Given the description of an element on the screen output the (x, y) to click on. 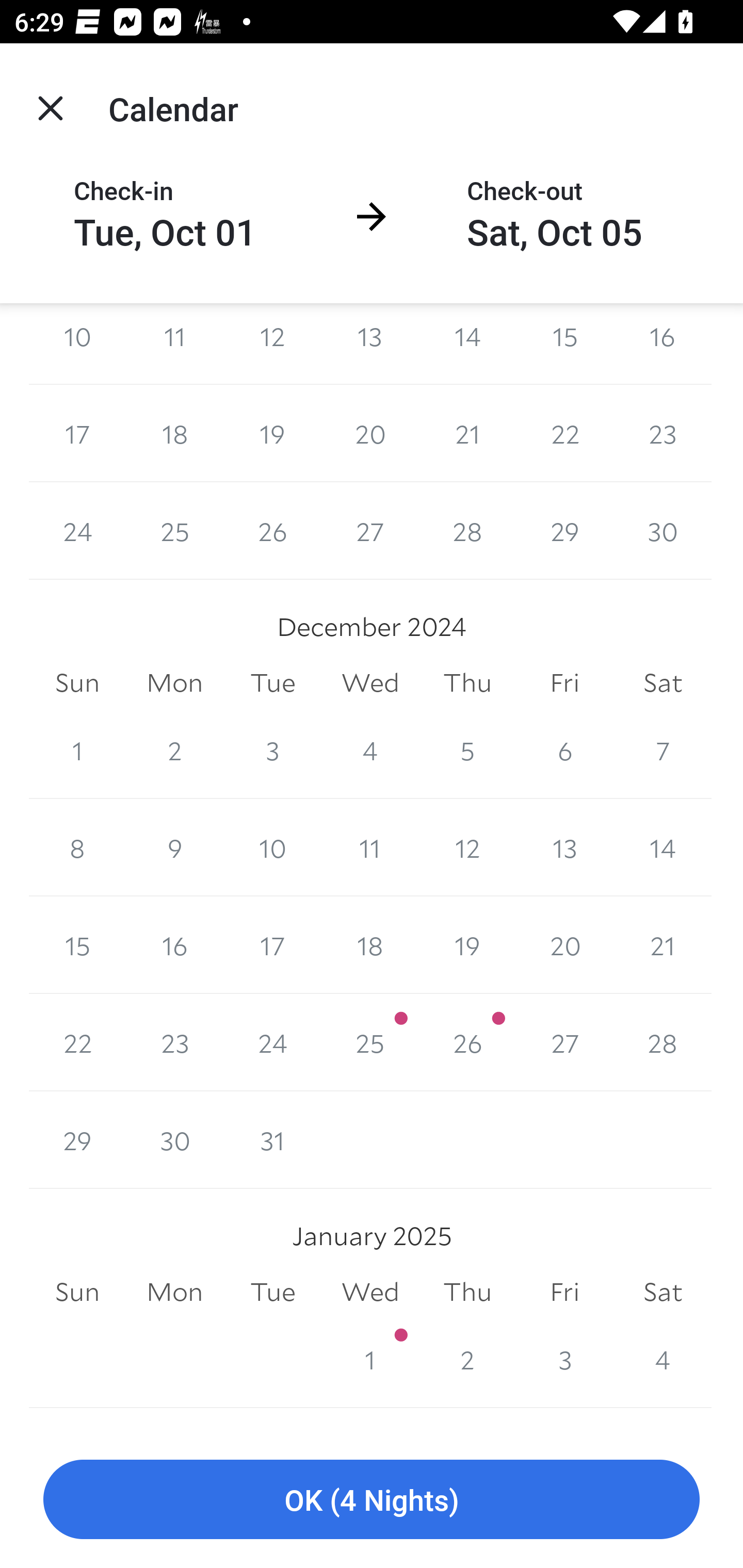
10 10 November 2024 (77, 343)
11 11 November 2024 (174, 343)
12 12 November 2024 (272, 343)
13 13 November 2024 (370, 343)
14 14 November 2024 (467, 343)
15 15 November 2024 (564, 343)
16 16 November 2024 (662, 343)
17 17 November 2024 (77, 433)
18 18 November 2024 (174, 433)
19 19 November 2024 (272, 433)
20 20 November 2024 (370, 433)
21 21 November 2024 (467, 433)
22 22 November 2024 (564, 433)
23 23 November 2024 (662, 433)
24 24 November 2024 (77, 531)
25 25 November 2024 (174, 531)
26 26 November 2024 (272, 531)
27 27 November 2024 (370, 531)
28 28 November 2024 (467, 531)
29 29 November 2024 (564, 531)
30 30 November 2024 (662, 531)
Sun (77, 682)
Mon (174, 682)
Tue (272, 682)
Wed (370, 682)
Thu (467, 682)
Fri (564, 682)
Sat (662, 682)
1 1 December 2024 (77, 749)
2 2 December 2024 (174, 749)
3 3 December 2024 (272, 749)
4 4 December 2024 (370, 749)
5 5 December 2024 (467, 749)
6 6 December 2024 (564, 749)
7 7 December 2024 (662, 749)
8 8 December 2024 (77, 847)
9 9 December 2024 (174, 847)
10 10 December 2024 (272, 847)
11 11 December 2024 (370, 847)
12 12 December 2024 (467, 847)
13 13 December 2024 (564, 847)
14 14 December 2024 (662, 847)
15 15 December 2024 (77, 945)
16 16 December 2024 (174, 945)
17 17 December 2024 (272, 945)
18 18 December 2024 (370, 945)
19 19 December 2024 (467, 945)
20 20 December 2024 (564, 945)
21 21 December 2024 (662, 945)
